Given the description of an element on the screen output the (x, y) to click on. 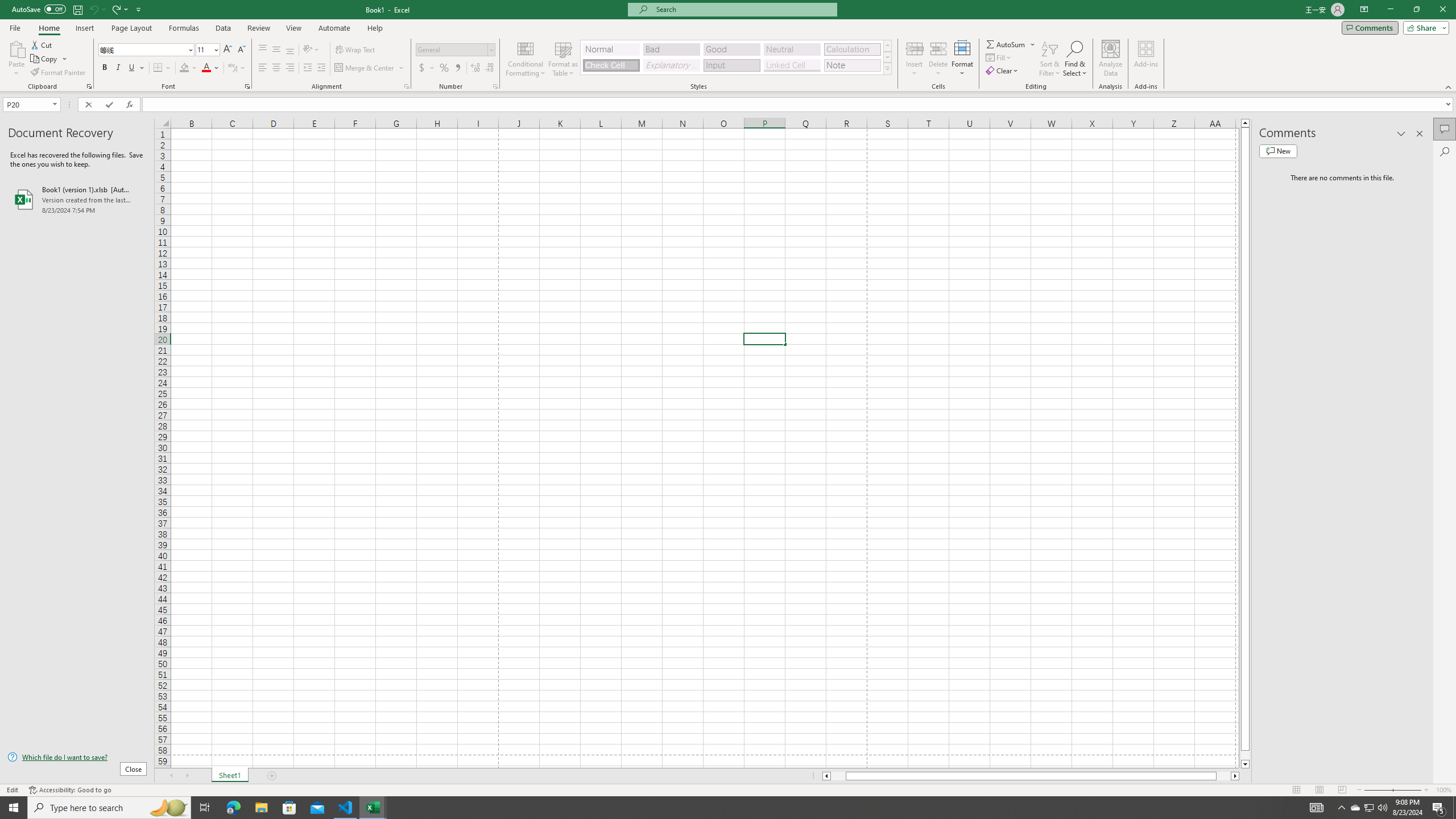
New comment (1278, 151)
Underline (136, 67)
